Given the description of an element on the screen output the (x, y) to click on. 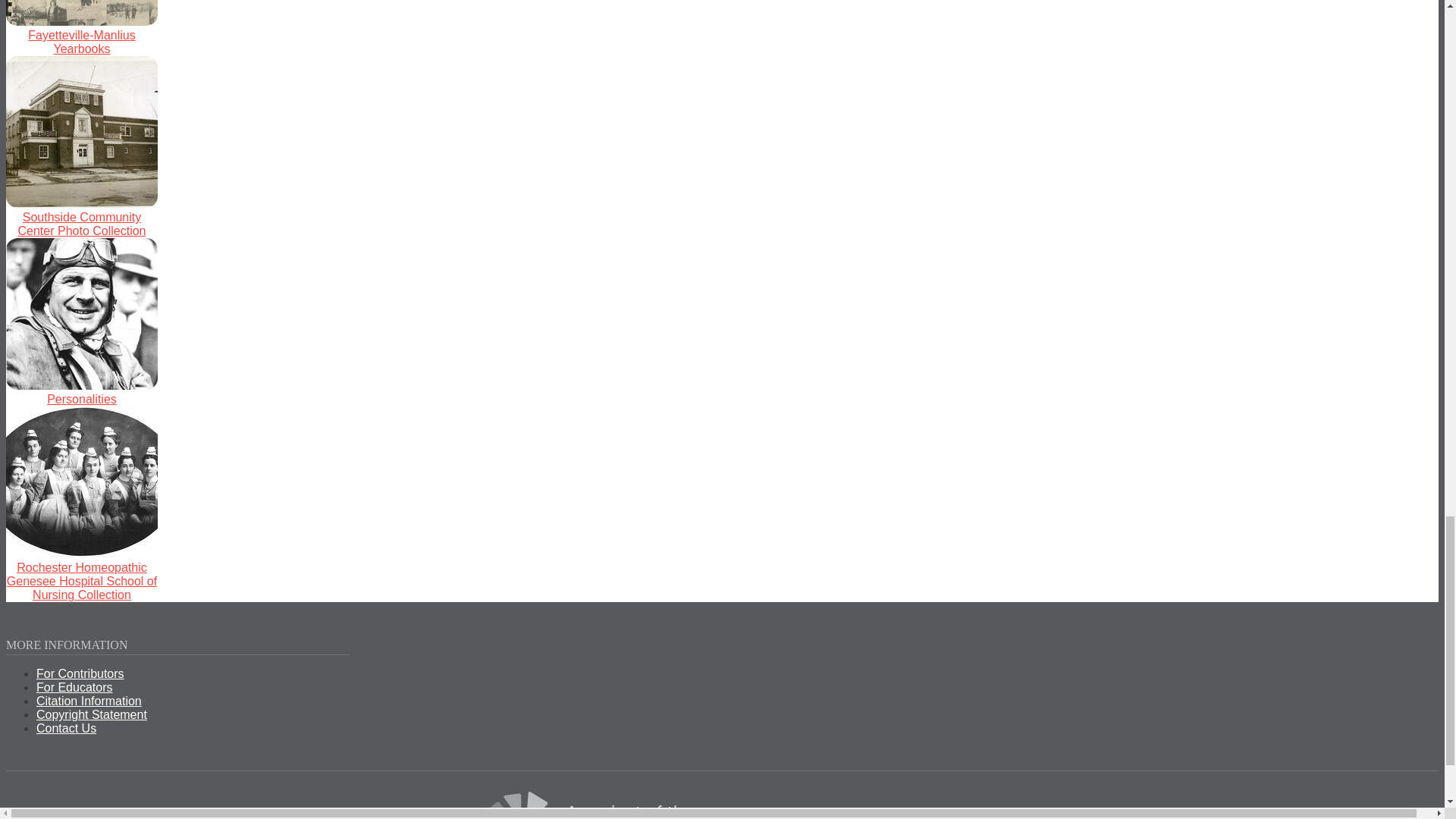
Fayetteville-Manlius Yearbooks (81, 41)
Personalities (81, 399)
For Contributors (79, 673)
Southside Community Center Photo Collection (82, 223)
